Given the description of an element on the screen output the (x, y) to click on. 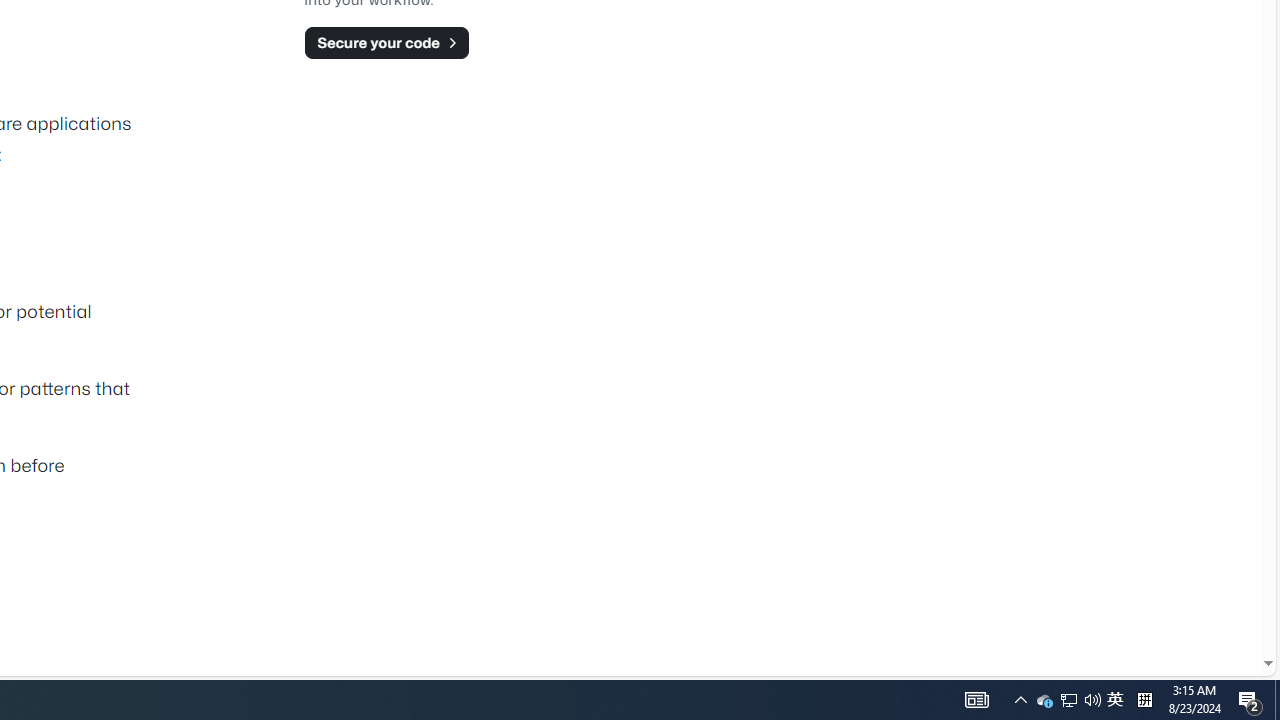
Secure your code (386, 42)
